Given the description of an element on the screen output the (x, y) to click on. 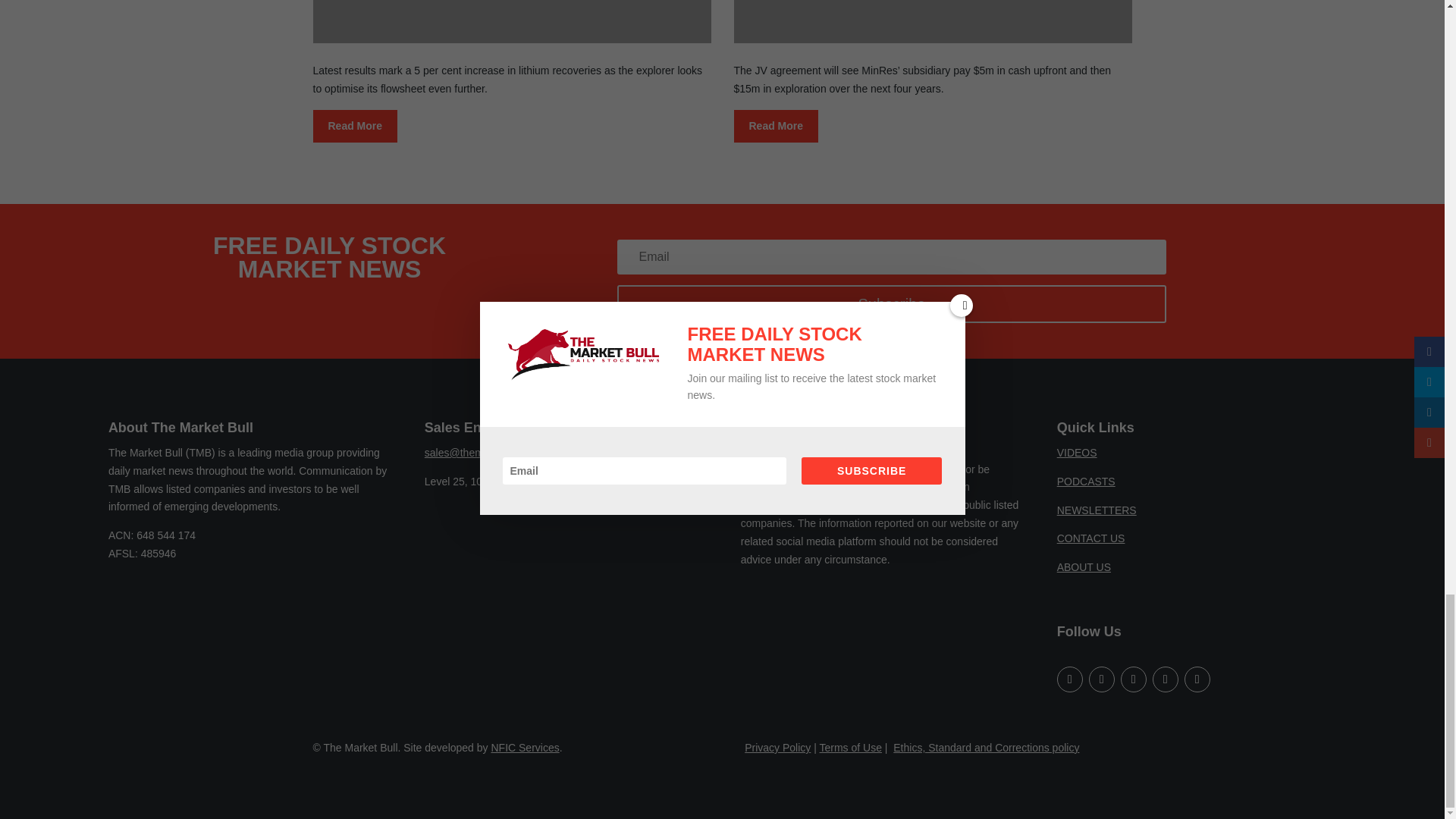
Follow on Youtube (1070, 679)
